Given the description of an element on the screen output the (x, y) to click on. 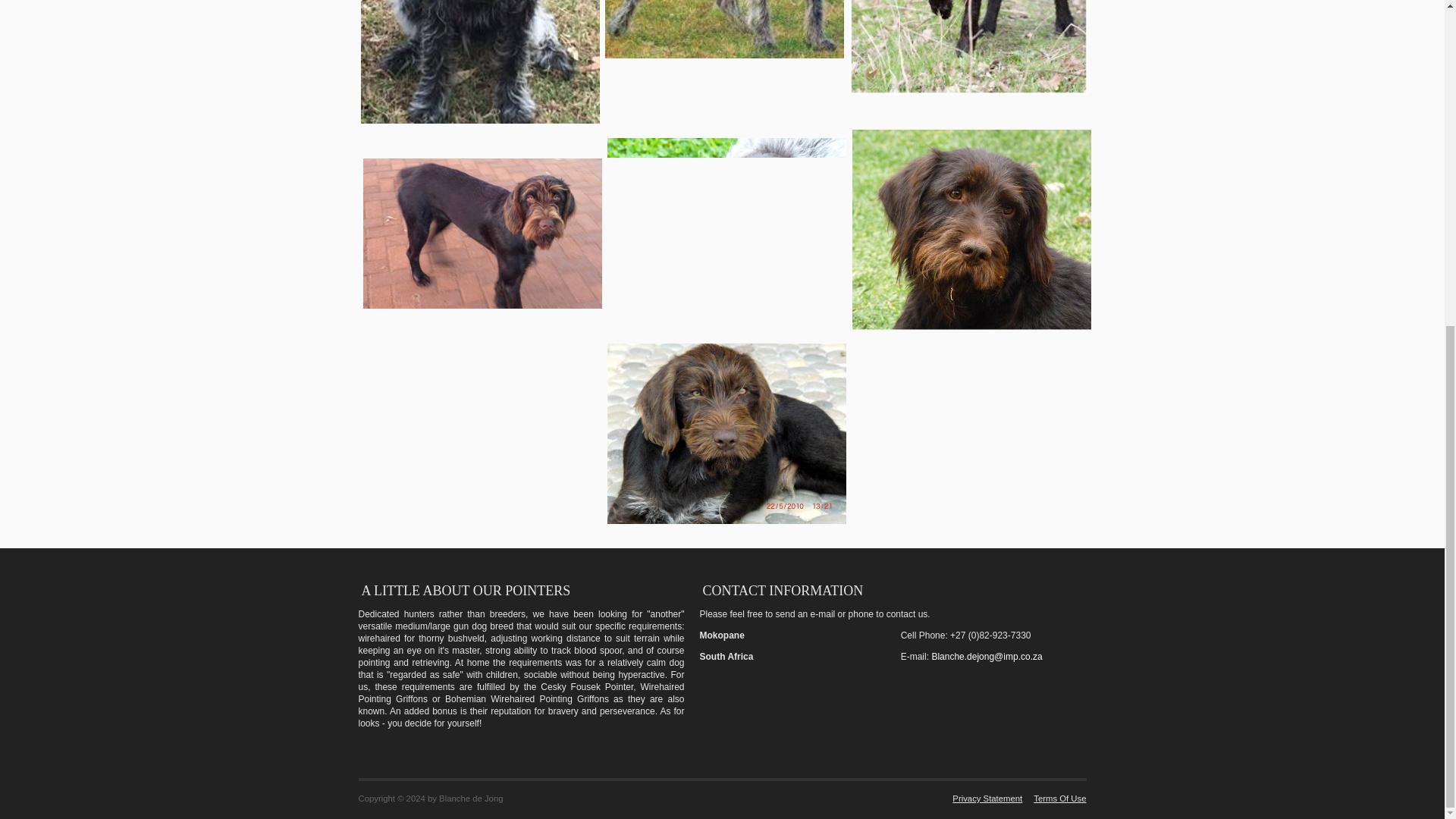
Terms Of Use (1054, 798)
Privacy Statement (981, 798)
